Given the description of an element on the screen output the (x, y) to click on. 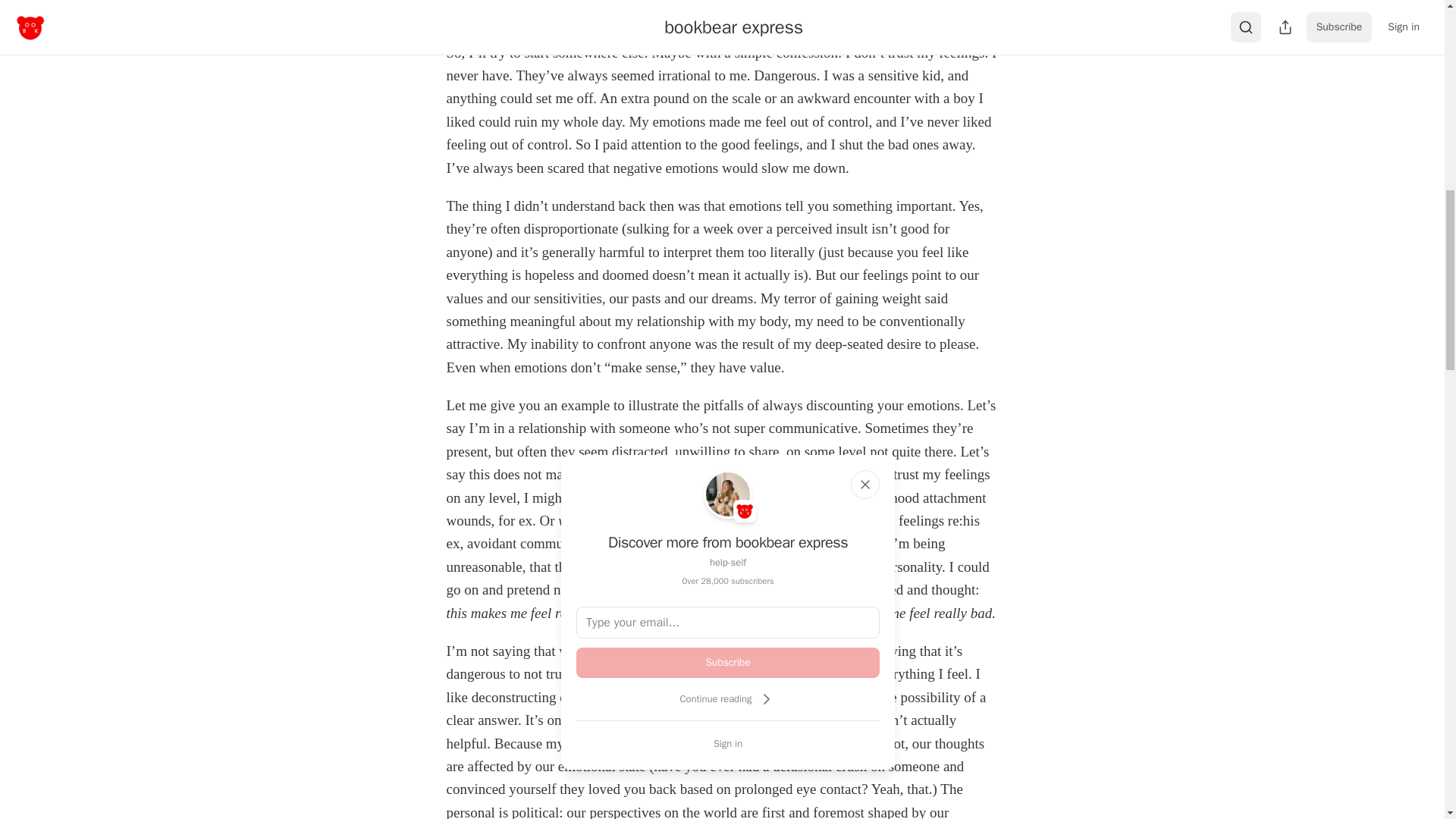
Sign in (727, 743)
Subscribe (727, 662)
